Given the description of an element on the screen output the (x, y) to click on. 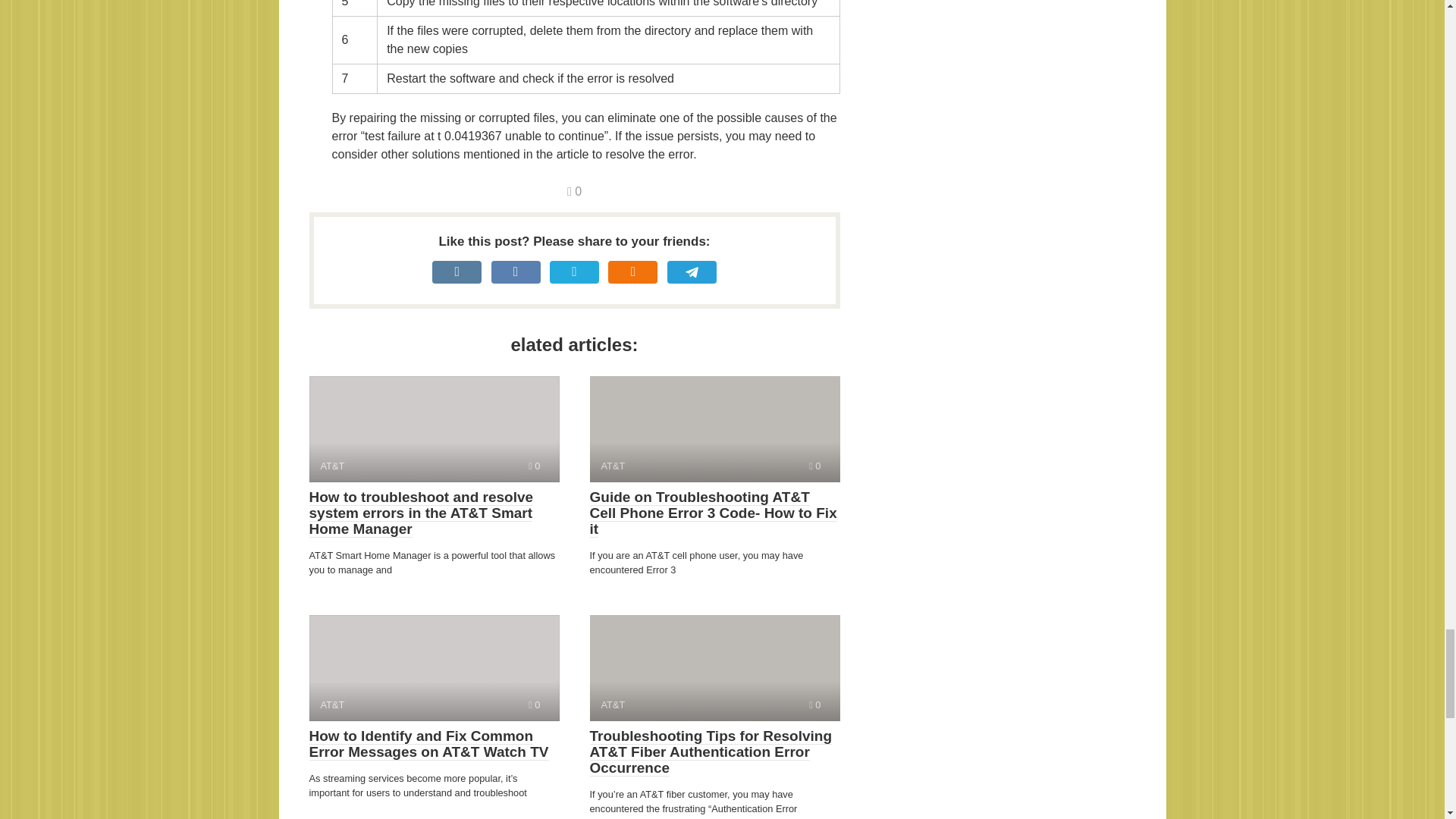
Comments (815, 465)
Comments (815, 704)
Comments (534, 704)
Comments (534, 465)
Comments (573, 191)
